Given the description of an element on the screen output the (x, y) to click on. 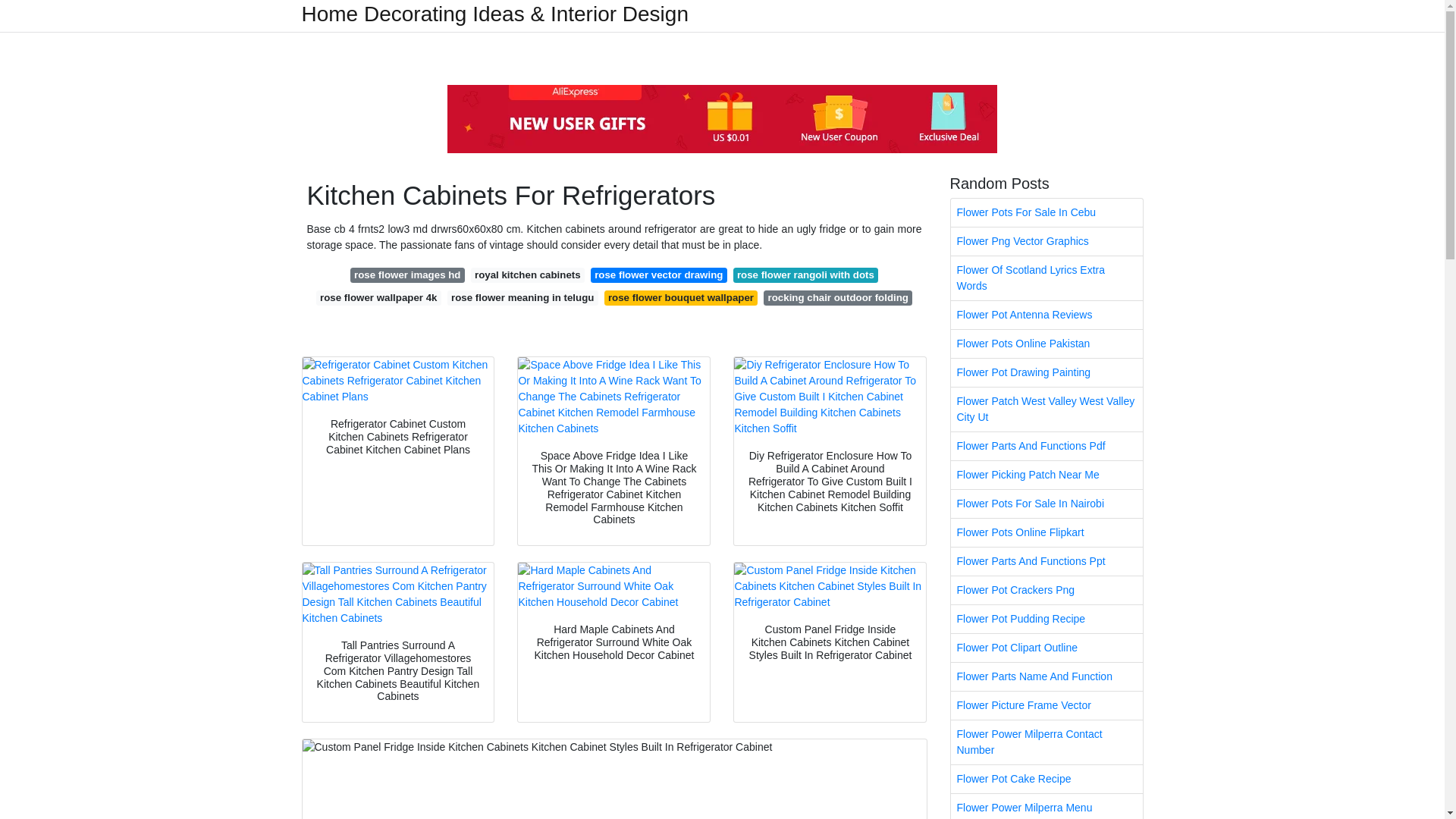
rose flower bouquet wallpaper (681, 297)
Flower Of Scotland Lyrics Extra Words (1046, 278)
Flower Patch West Valley West Valley City Ut (1046, 409)
Flower Pots Online Pakistan (1046, 343)
Flower Parts And Functions Pdf (1046, 446)
Flower Pot Antenna Reviews (1046, 315)
rose flower wallpaper 4k (378, 297)
Flower Pots For Sale In Cebu (1046, 212)
rose flower images hd (407, 274)
rose flower meaning in telugu (522, 297)
Flower Pot Drawing Painting (1046, 372)
Flower Png Vector Graphics (1046, 241)
Flower Picking Patch Near Me (1046, 474)
rocking chair outdoor folding (837, 297)
rose flower rangoli with dots (806, 274)
